Given the description of an element on the screen output the (x, y) to click on. 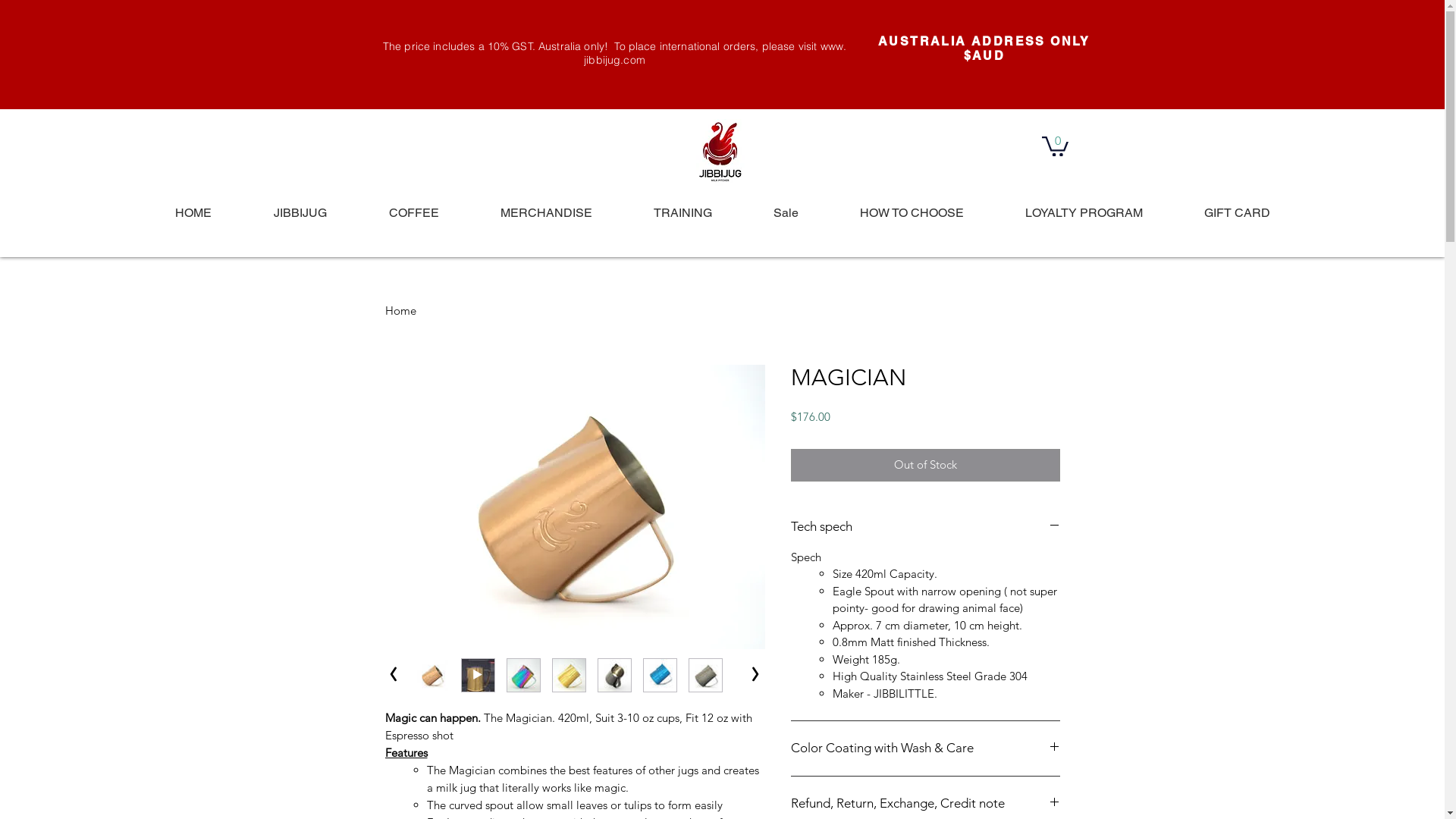
Home Element type: text (400, 310)
COFFEE Element type: text (413, 212)
Refund, Return, Exchange, Credit note Element type: text (924, 803)
JIBBIJUG Element type: text (299, 212)
Sale Element type: text (785, 212)
GIFT CARD Element type: text (1236, 212)
Color Coating with Wash & Care Element type: text (924, 748)
Tech spech Element type: text (924, 526)
"Sharp Spout Milk Pitcher" "Precision Pour Milk Pitcher" Element type: hover (720, 153)
HOME Element type: text (193, 212)
MERCHANDISE Element type: text (545, 212)
Out of Stock Element type: text (924, 464)
0 Element type: text (1054, 145)
LOYALTY PROGRAM Element type: text (1083, 212)
HOW TO CHOOSE Element type: text (911, 212)
TRAINING Element type: text (682, 212)
